Given the description of an element on the screen output the (x, y) to click on. 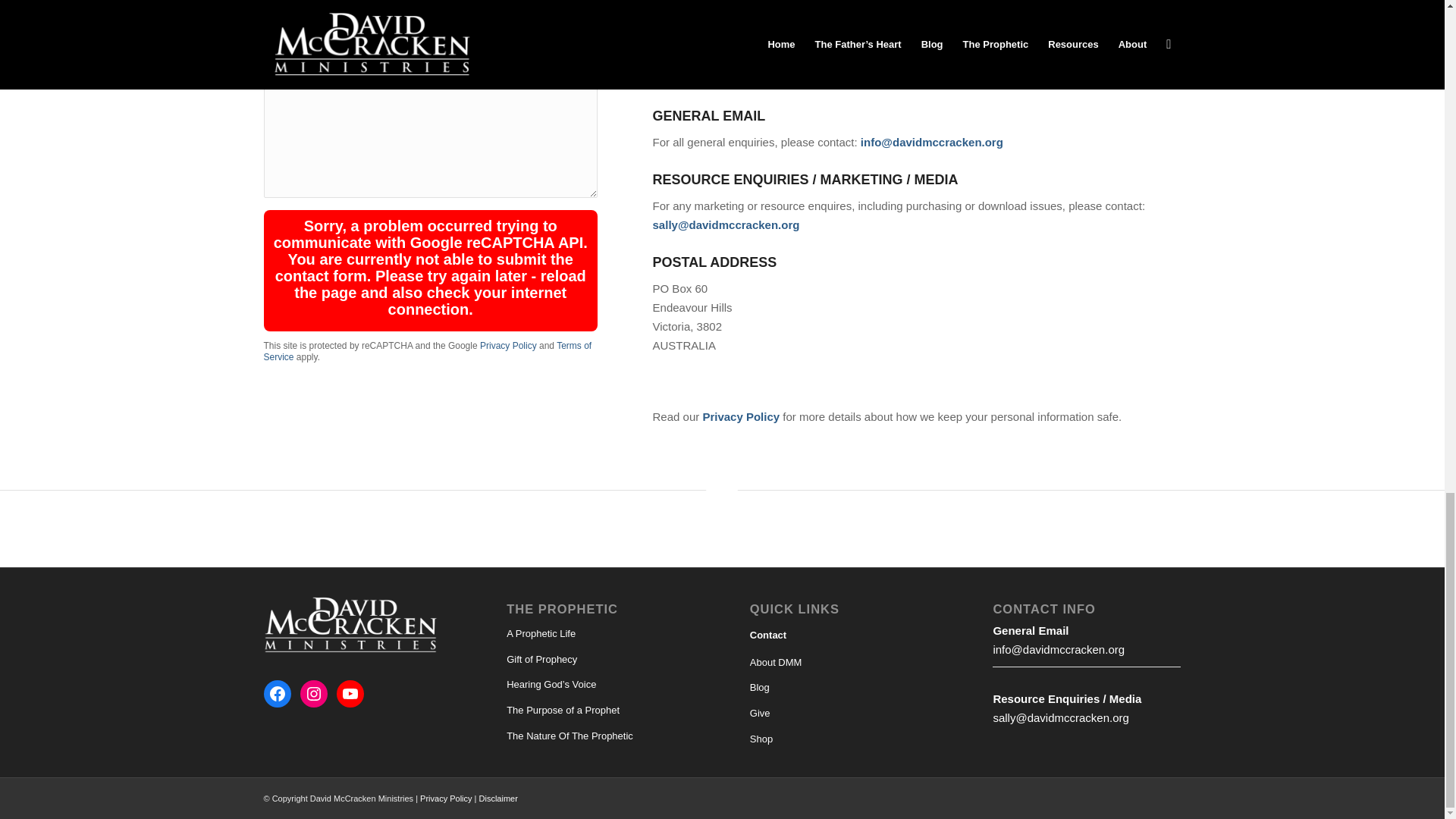
Privacy Policy (508, 345)
Terms of Service (427, 351)
Privacy Policy (739, 416)
A Prophetic Life (600, 634)
